Given the description of an element on the screen output the (x, y) to click on. 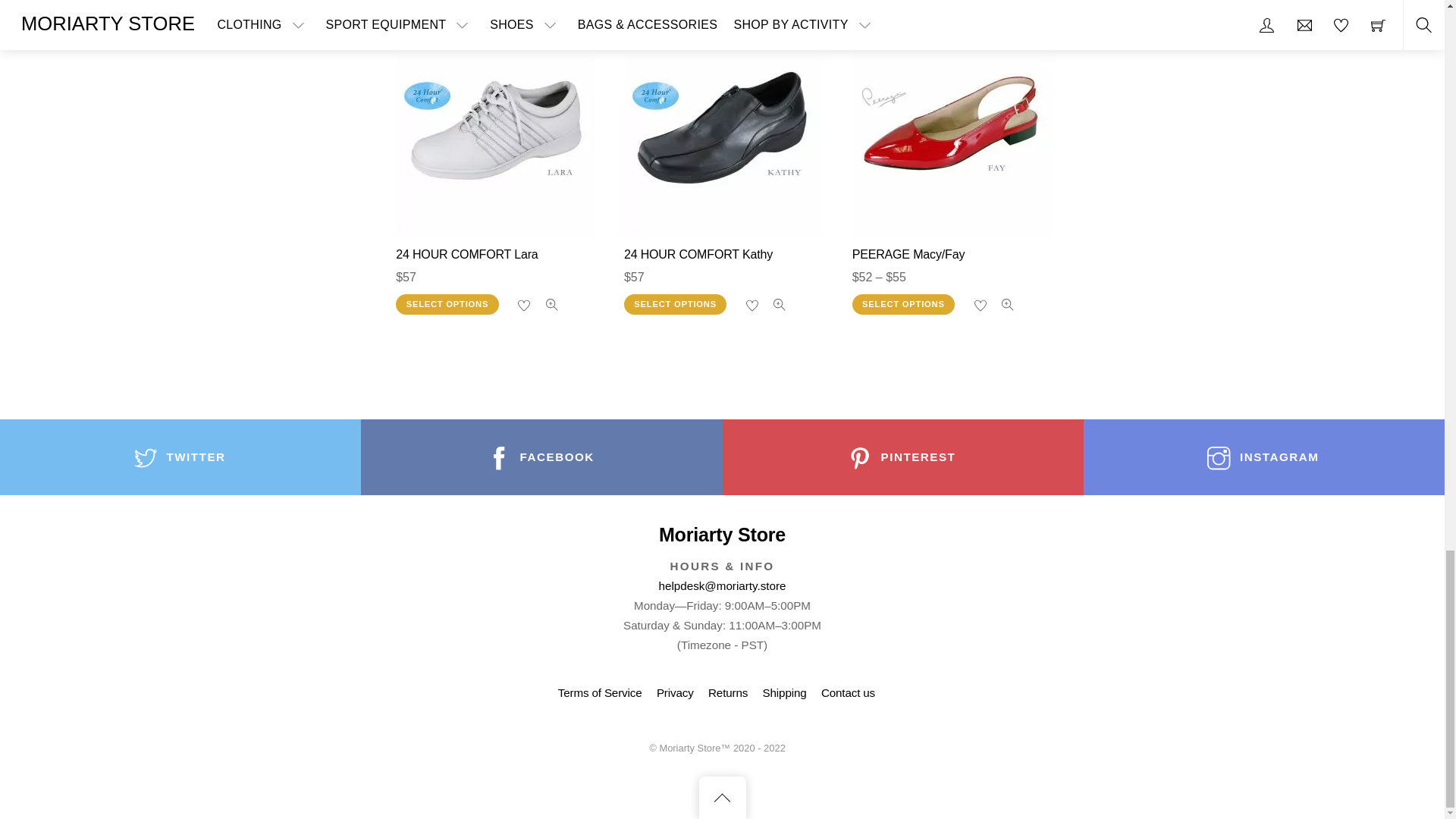
Moriarty Store (722, 534)
Footwear US - FT6055PR-1 (951, 127)
Footwear US - 1014B (723, 127)
Shoe Lara White (495, 127)
